Given the description of an element on the screen output the (x, y) to click on. 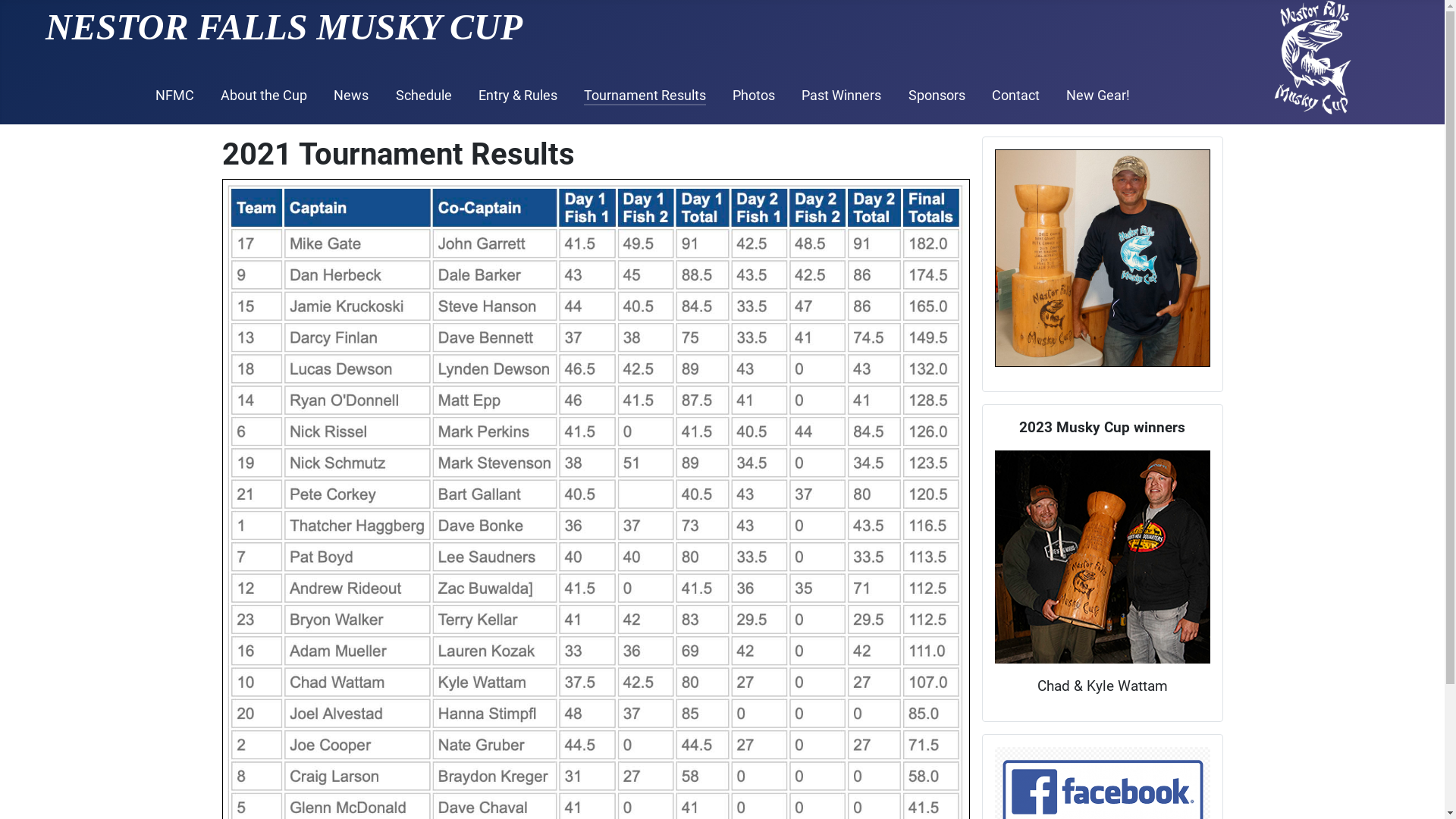
News Element type: text (350, 95)
About the Cup Element type: text (263, 95)
Past Winners Element type: text (841, 95)
Entry & Rules Element type: text (517, 95)
Photos Element type: text (753, 95)
Tournament Results Element type: text (644, 95)
New Gear! Element type: text (1097, 95)
NFMC Element type: text (174, 95)
Contact Element type: text (1015, 95)
Schedule Element type: text (423, 95)
Sponsors Element type: text (936, 95)
